Given the description of an element on the screen output the (x, y) to click on. 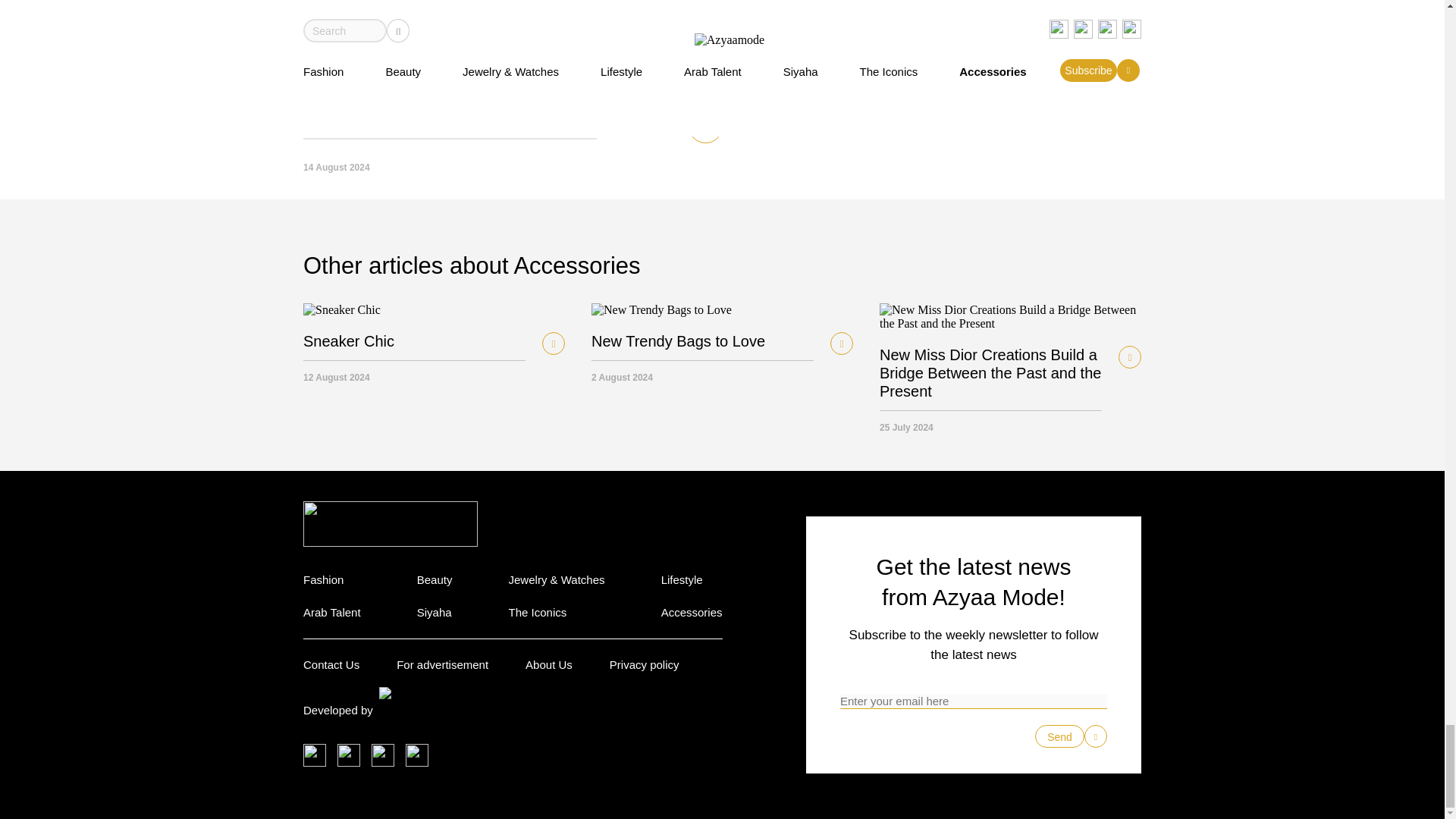
Instagram (382, 754)
Pinterest (417, 754)
Twitter (314, 754)
Facebook (348, 754)
